Given the description of an element on the screen output the (x, y) to click on. 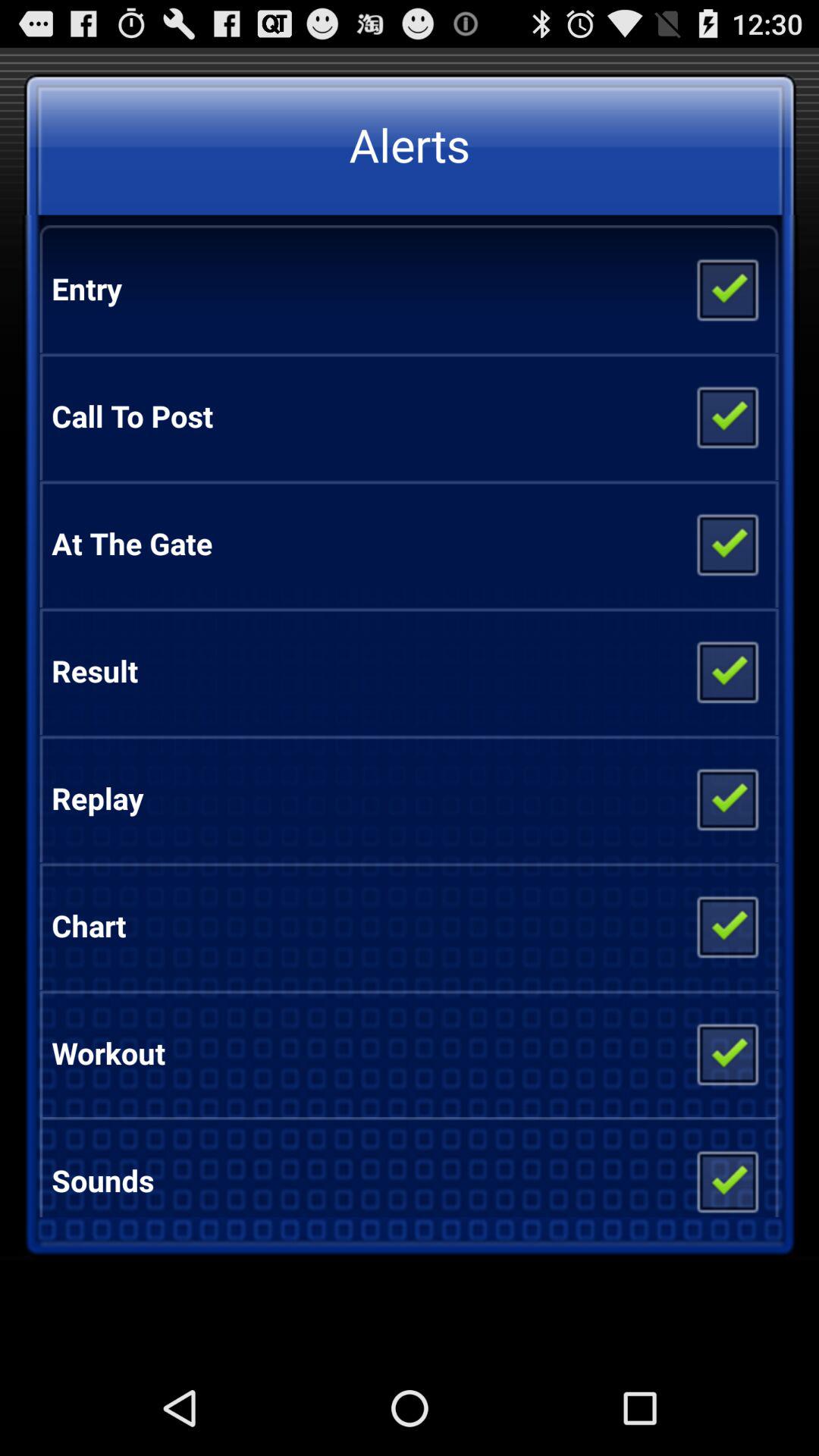
press the icon to the right of the replay item (726, 798)
